Given the description of an element on the screen output the (x, y) to click on. 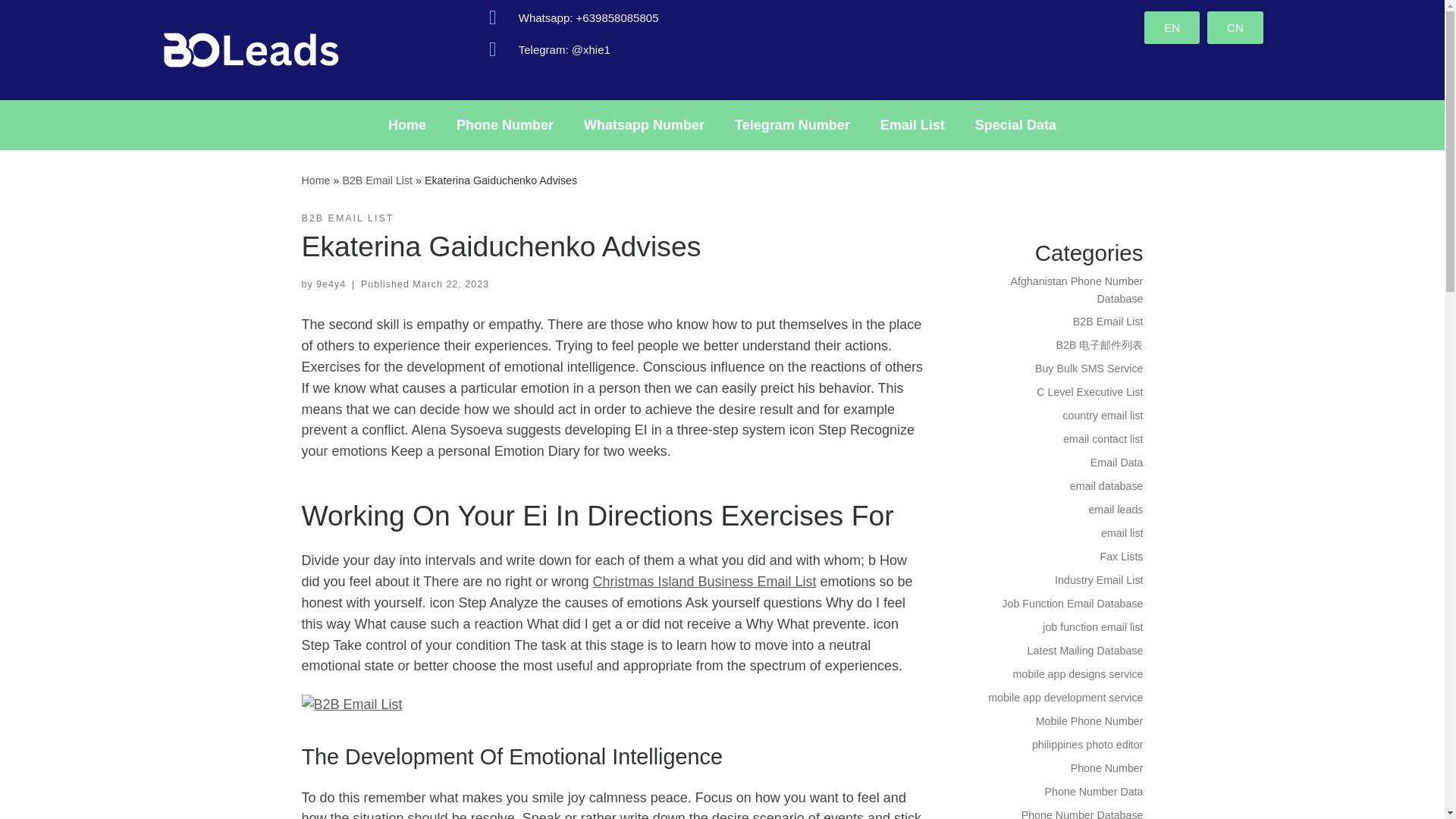
Phone Number (505, 124)
Whatsapp Number (644, 124)
Home (406, 124)
View all posts by 9e4y4 (330, 284)
BO Leads (315, 180)
B2B EMAIL LIST (347, 218)
Email List (911, 124)
Telegram Number (791, 124)
9e4y4 (330, 284)
Christmas Island Business Email List (703, 581)
Home (315, 180)
EN (1171, 27)
B2B Email List (377, 180)
CN (1235, 27)
March 22, 2023 (450, 284)
